Given the description of an element on the screen output the (x, y) to click on. 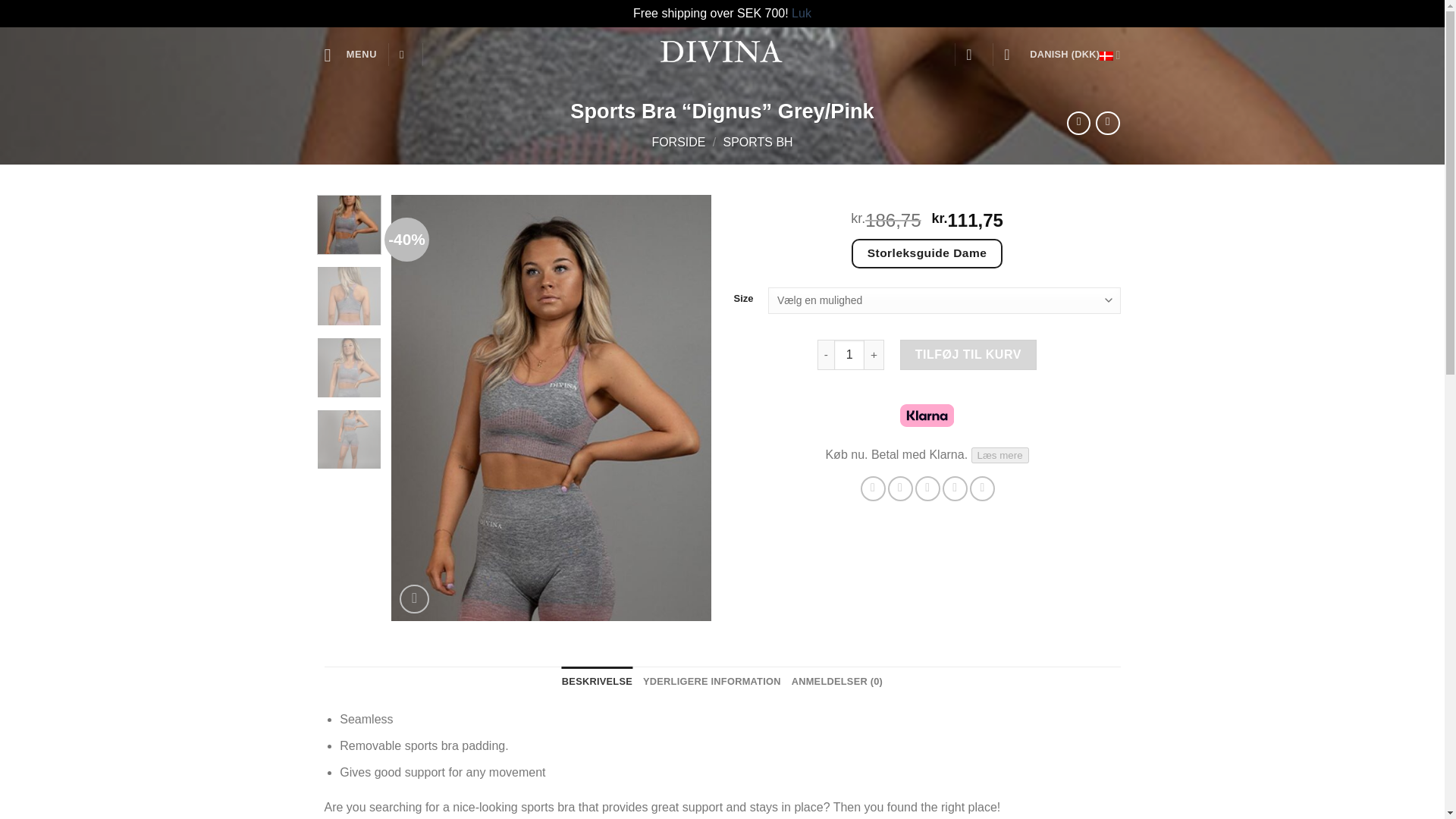
Luk (801, 12)
E-mail en ven (927, 488)
Storleksguide Dame (927, 253)
MENU (350, 54)
SPORTS BH (757, 141)
divinasports.com - Divina Sports Sweden (721, 54)
1 (849, 354)
Zoom (413, 599)
FORSIDE (677, 141)
